Given the description of an element on the screen output the (x, y) to click on. 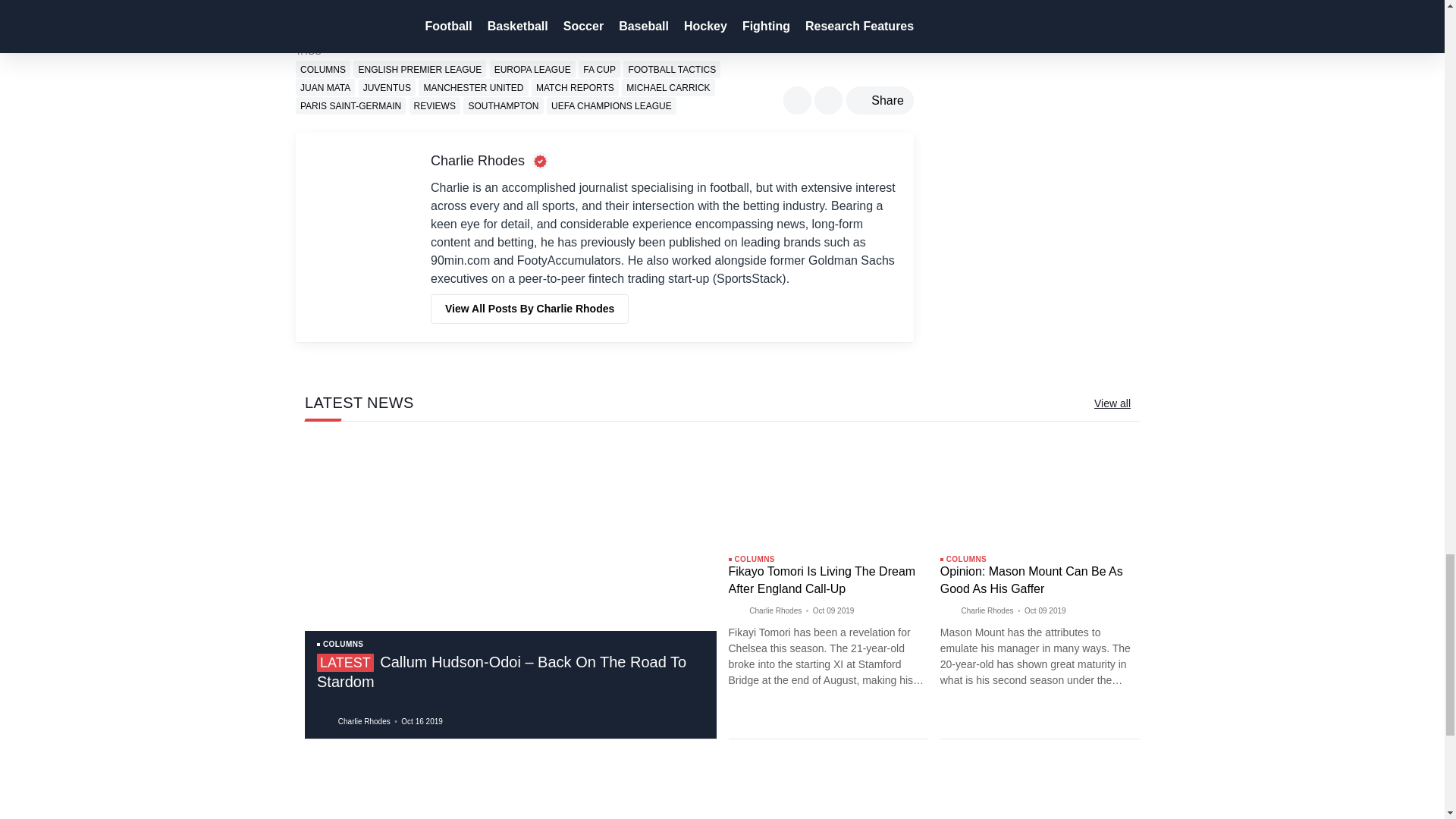
EUROPA LEAGUE (532, 68)
COLUMNS (322, 68)
MICHAEL CARRICK (667, 87)
MATCH REPORTS (574, 87)
FOOTBALL TACTICS (671, 68)
REVIEWS (434, 105)
FA CUP (599, 68)
ENGLISH PREMIER LEAGUE (419, 68)
MANCHESTER UNITED (473, 87)
PARIS SAINT-GERMAIN (350, 105)
